Given the description of an element on the screen output the (x, y) to click on. 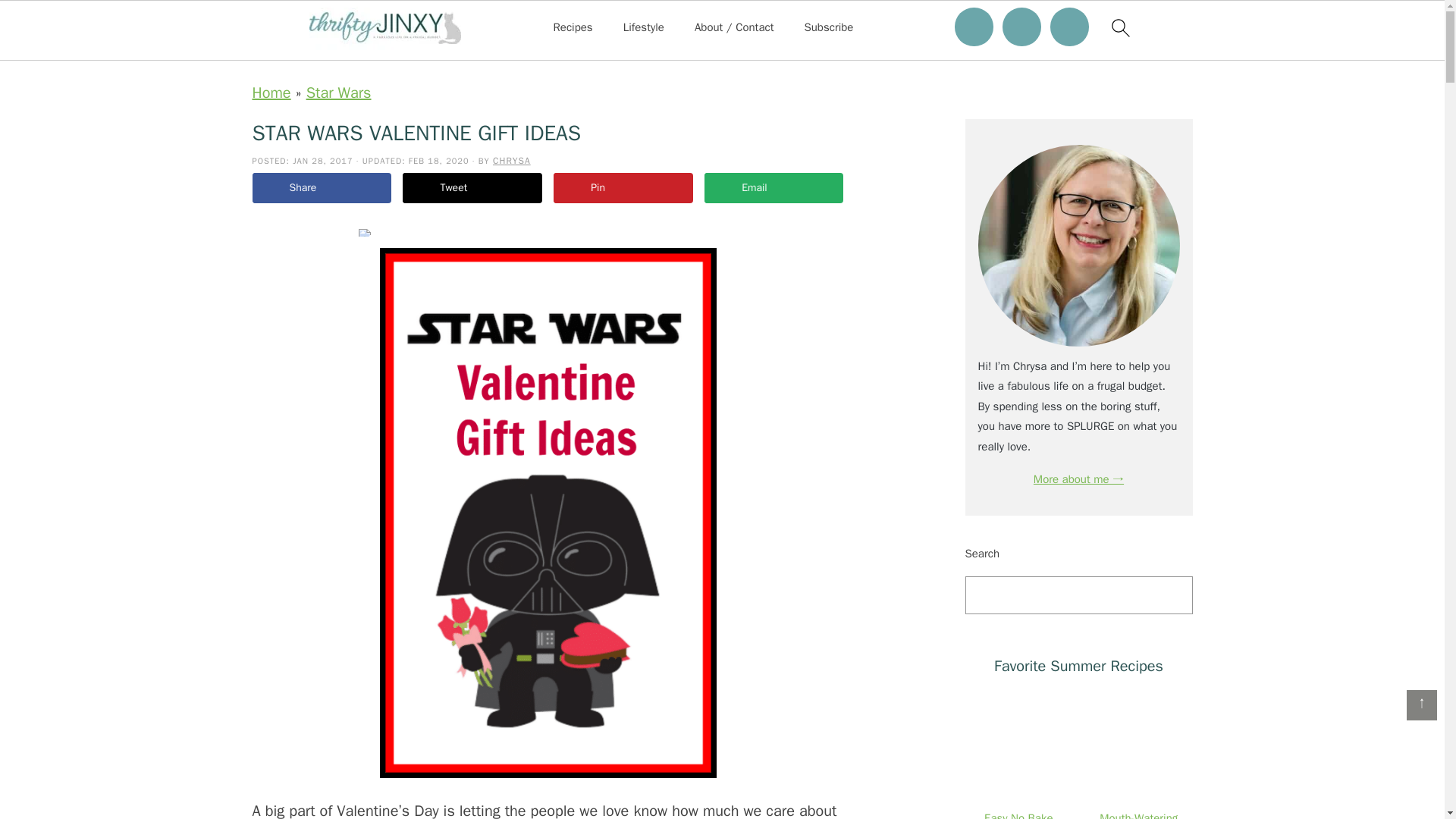
Share on Facebook (320, 187)
Send over email (773, 187)
search icon (1119, 27)
Save to Pinterest (623, 187)
Share on X (472, 187)
